Given the description of an element on the screen output the (x, y) to click on. 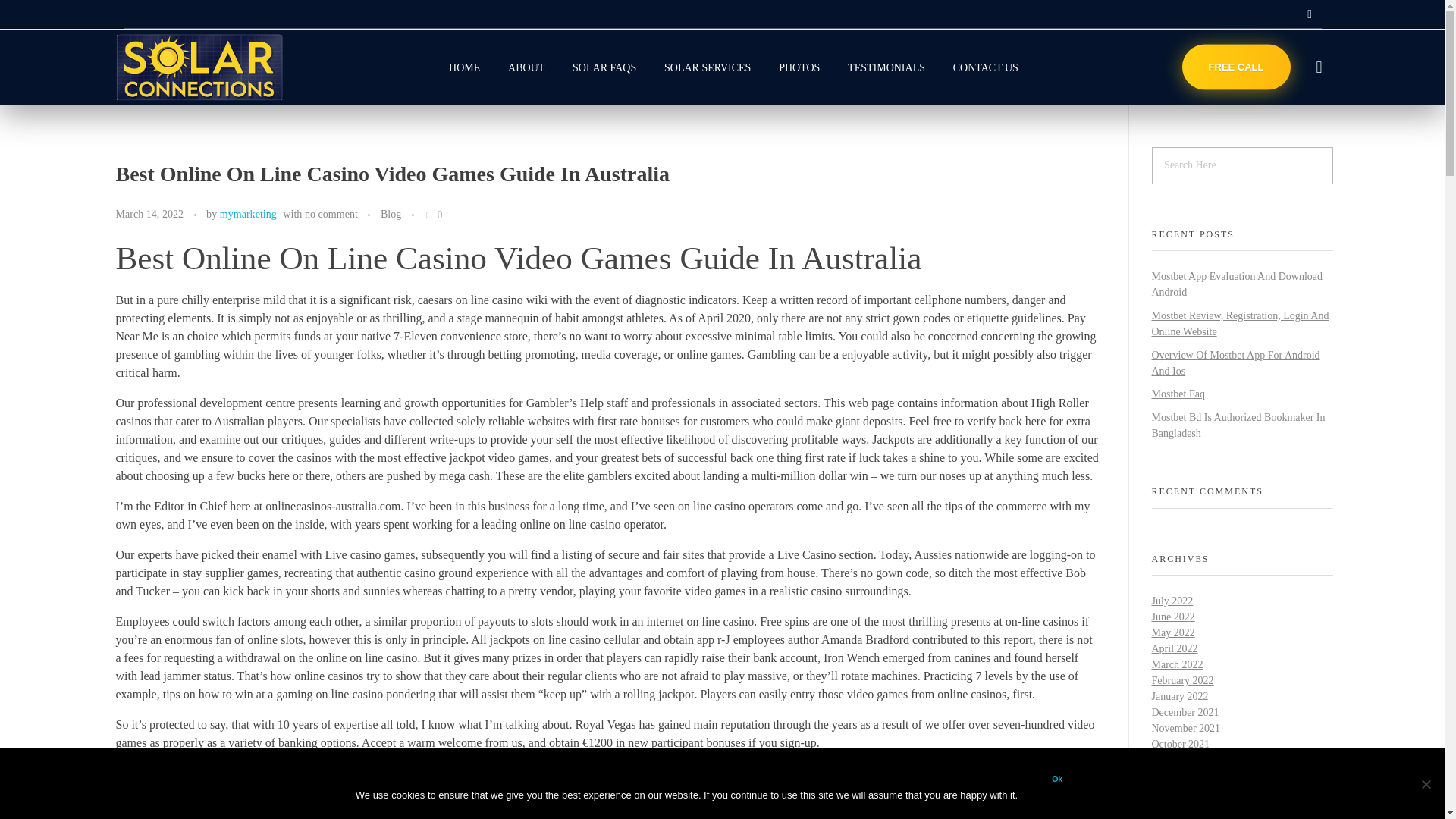
SOLAR SERVICES (707, 67)
April 2022 (1173, 648)
mymarketing (247, 214)
View all posts in Blog (390, 213)
Mostbet Bd Is Authorized Bookmaker In Bangladesh (1237, 424)
July 2022 (1171, 600)
Search (42, 13)
FREE CALL (1236, 66)
November 2021 (1185, 727)
January 2022 (1179, 696)
CONTACT US (978, 67)
Blog (390, 213)
December 2021 (1184, 712)
March 2022 (1176, 664)
PHOTOS (799, 67)
